Given the description of an element on the screen output the (x, y) to click on. 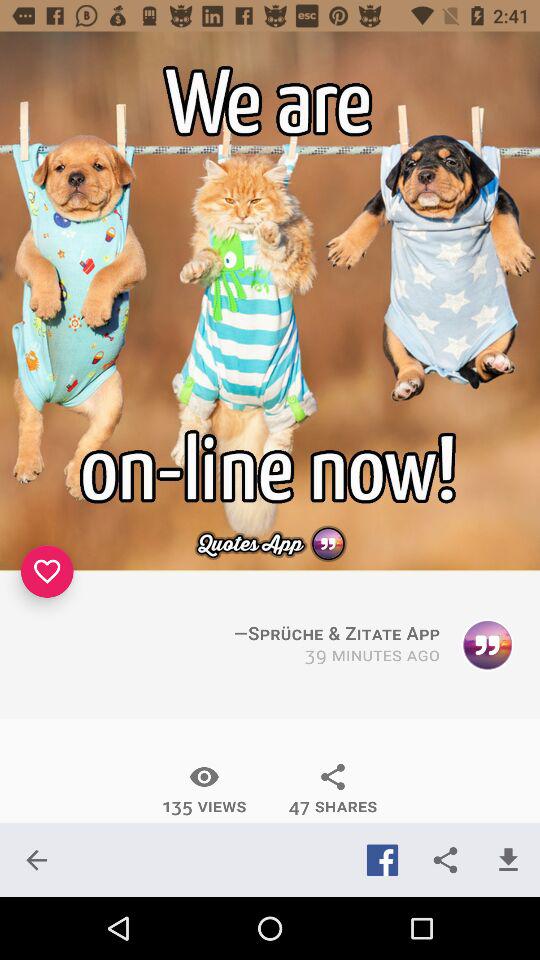
tap the item on the left (47, 571)
